Given the description of an element on the screen output the (x, y) to click on. 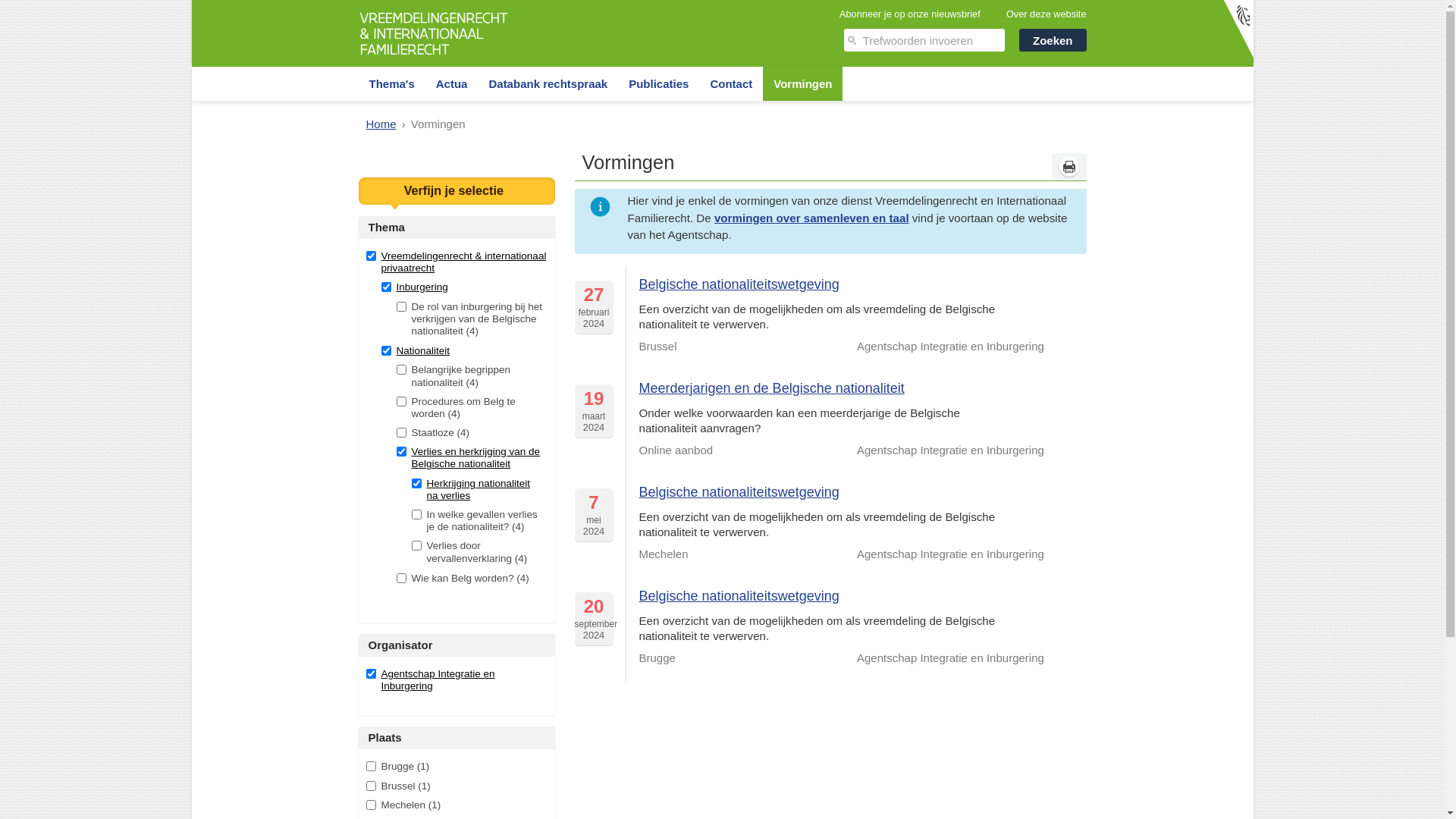
Zoeken Element type: text (1052, 39)
Vormingen Element type: text (802, 83)
Home Element type: hover (432, 56)
Meerderjarigen en de Belgische nationaliteit Element type: text (771, 387)
Abonneer je op onze nieuwsbrief Element type: text (909, 13)
Belgische nationaliteitswetgeving Element type: text (739, 595)
Home Element type: text (380, 123)
Brussel (1)
Apply Brussel filter Element type: text (456, 785)
Belgische nationaliteitswetgeving Element type: text (739, 491)
Belgische nationaliteitswetgeving Element type: text (739, 283)
Brugge (1)
Apply Brugge filter Element type: text (456, 766)
Overslaan en naar de algemene inhoud gaan Element type: text (114, 0)
Thema's Element type: text (390, 83)
Contact Element type: text (730, 83)
Print this page Element type: hover (1068, 166)
Publicaties Element type: text (658, 83)
Wie kan Belg worden? (4)
Apply Wie kan Belg worden? filter Element type: text (469, 578)
Mechelen (1)
Apply Mechelen filter Element type: text (456, 805)
vormingen over samenleven en taal Element type: text (811, 217)
Staatloze (4)
Apply Staatloze filter Element type: text (469, 432)
Databank rechtspraak Element type: text (547, 83)
Over deze website Element type: text (1046, 13)
Actua Element type: text (451, 83)
